Given the description of an element on the screen output the (x, y) to click on. 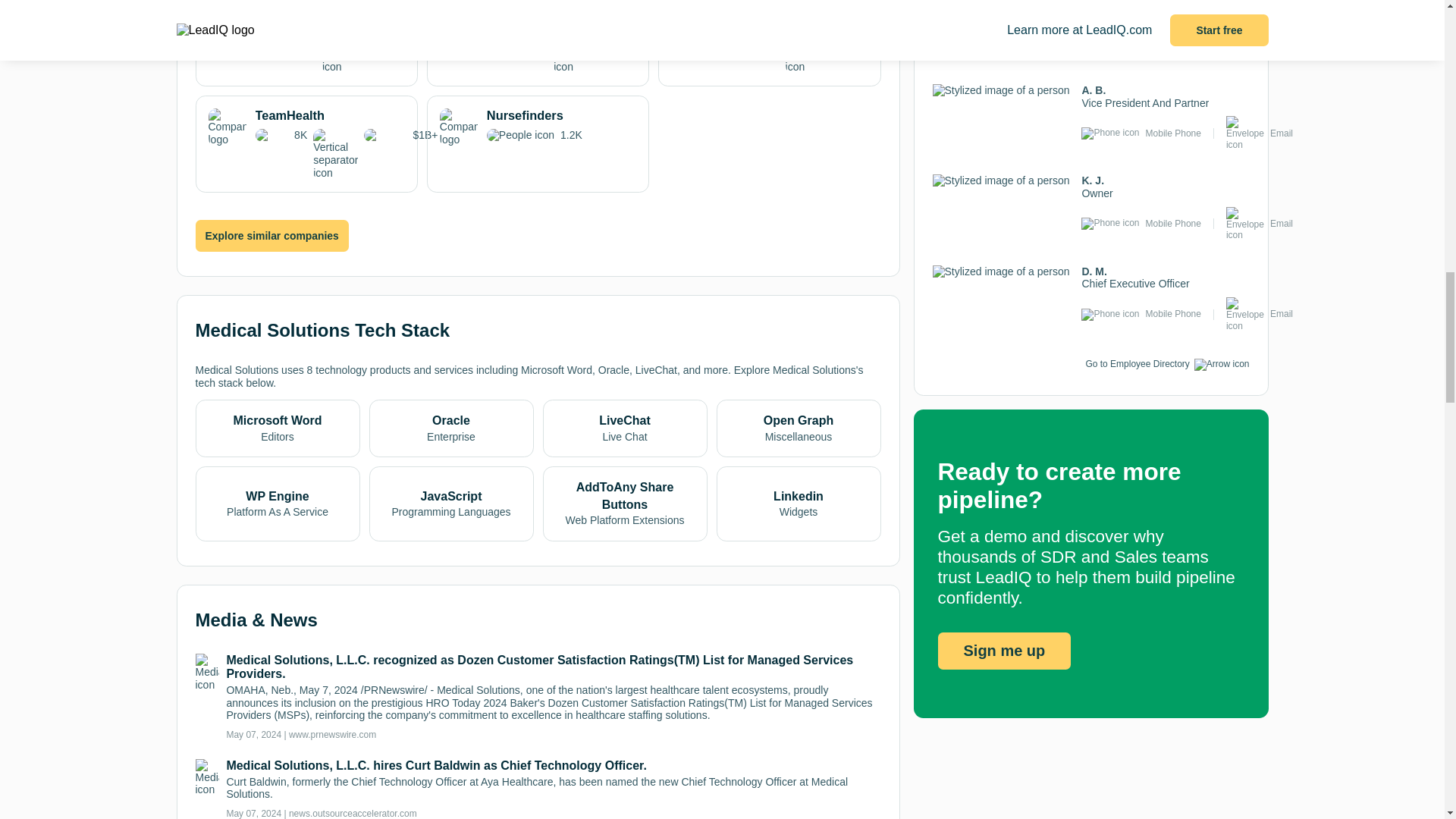
Explore similar companies (537, 127)
Explore similar companies (272, 235)
